Given the description of an element on the screen output the (x, y) to click on. 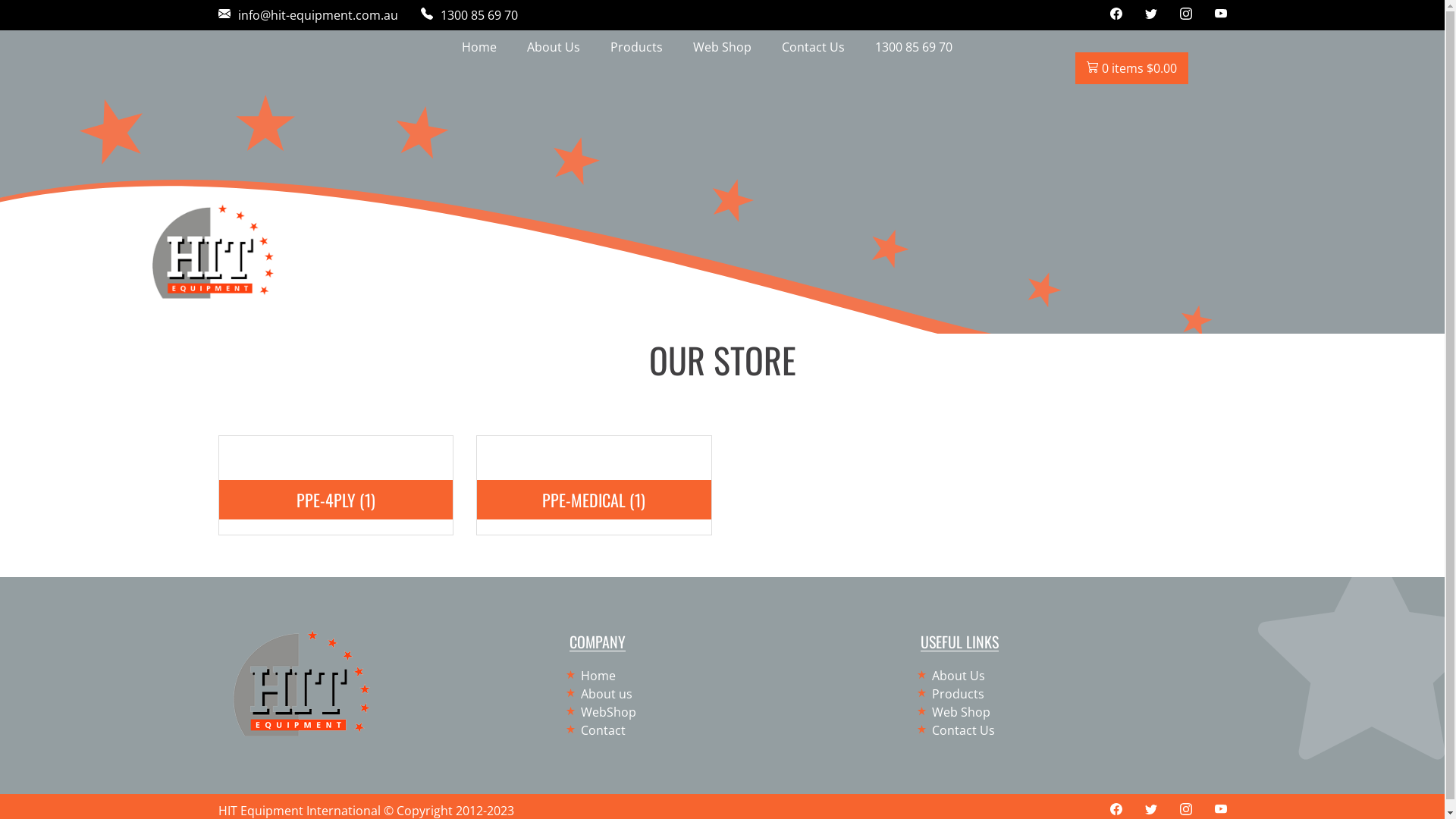
Contact Us Element type: text (957, 729)
About Us Element type: text (952, 675)
Products Element type: text (636, 46)
Products Element type: text (952, 693)
Web Shop Element type: text (721, 46)
Contact Element type: text (597, 729)
1300 85 69 70 Element type: text (913, 46)
Home Element type: text (478, 46)
1300 85 69 70 Element type: text (468, 15)
About Us Element type: text (553, 46)
Web Shop Element type: text (955, 711)
About us Element type: text (600, 693)
WebShop Element type: text (602, 711)
Home Element type: text (592, 675)
0 items $0.00 Element type: text (1131, 68)
Contact Us Element type: text (812, 46)
info@hit-equipment.com.au Element type: text (308, 15)
